Given the description of an element on the screen output the (x, y) to click on. 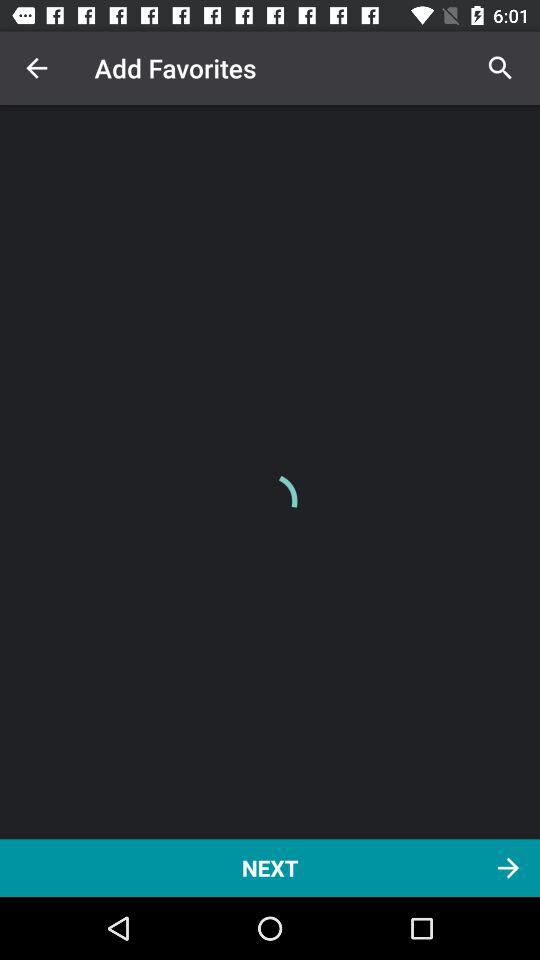
tap item to the left of add favorites (36, 68)
